Given the description of an element on the screen output the (x, y) to click on. 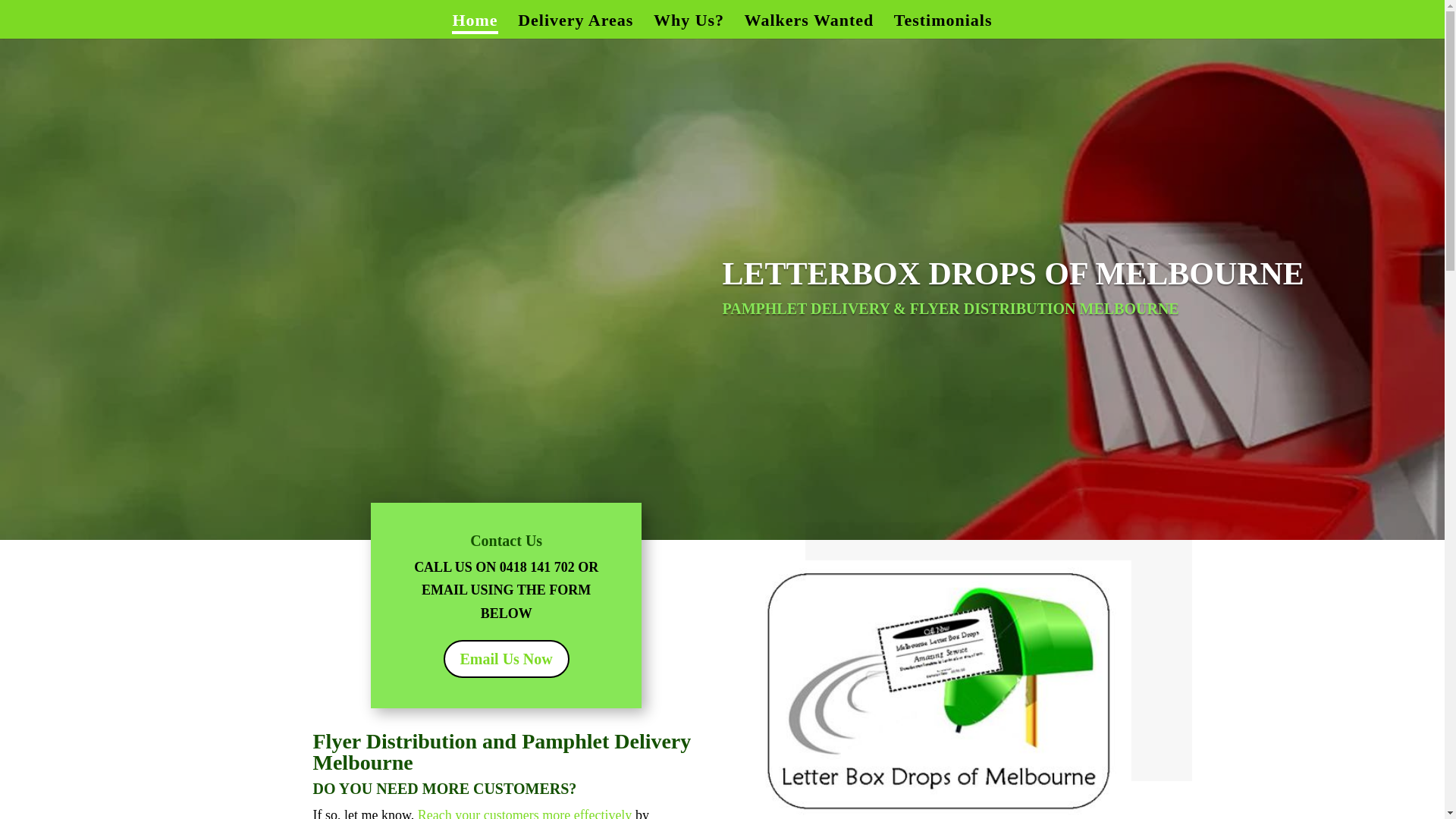
Why Us? Element type: text (688, 26)
Delivery Areas Element type: text (575, 26)
Testimonials Element type: text (943, 26)
Walkers Wanted Element type: text (809, 26)
Home Element type: text (474, 26)
Email Us Now Element type: text (506, 658)
